Given the description of an element on the screen output the (x, y) to click on. 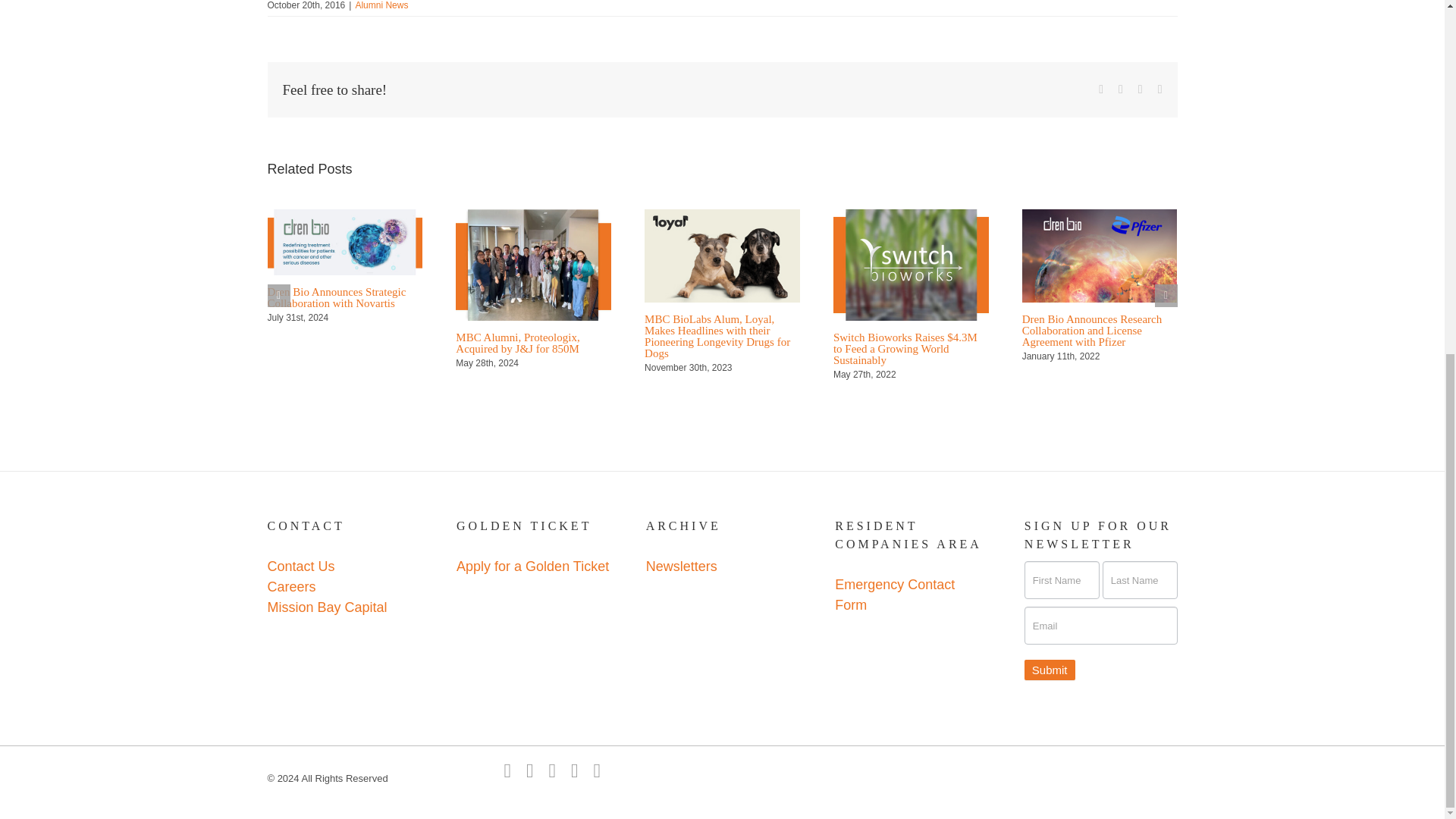
Dren Bio Announces Strategic Collaboration with Novartis (336, 297)
